Given the description of an element on the screen output the (x, y) to click on. 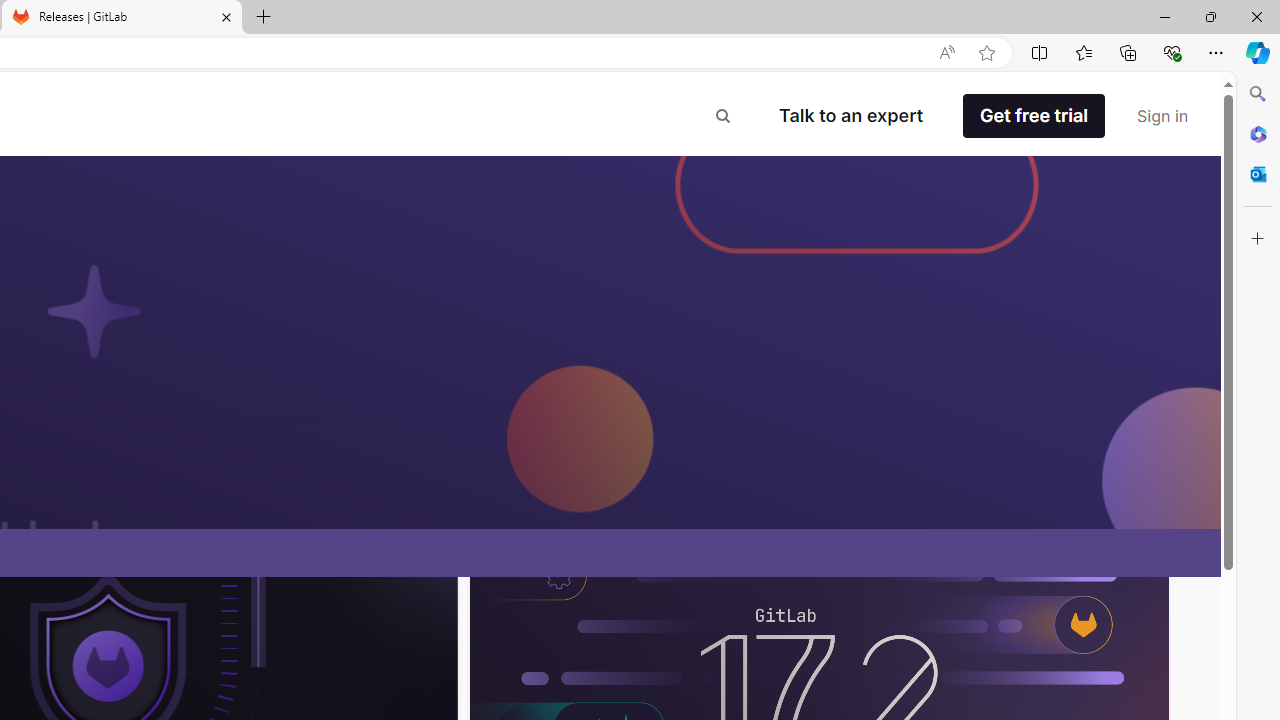
Get free trial (1033, 116)
Talk to an expert (850, 115)
